Given the description of an element on the screen output the (x, y) to click on. 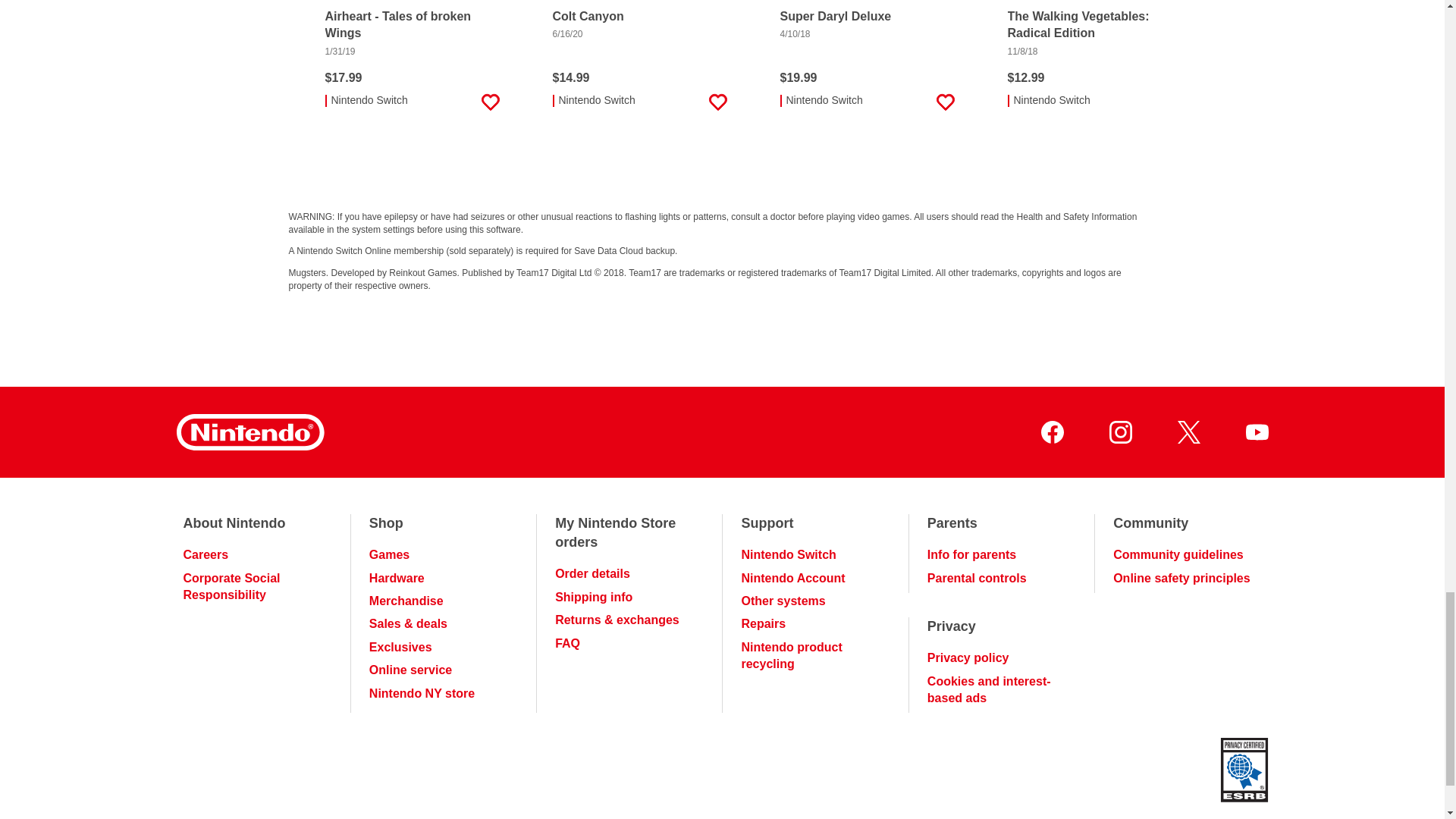
Add to Wish List (1172, 102)
Add to Wish List (716, 102)
Nintendo on Instagram (1119, 431)
Nintendo Homepage (249, 432)
Add to Wish List (489, 102)
Nintendo on Facebook (1051, 431)
Add to Wish List (944, 102)
